Given the description of an element on the screen output the (x, y) to click on. 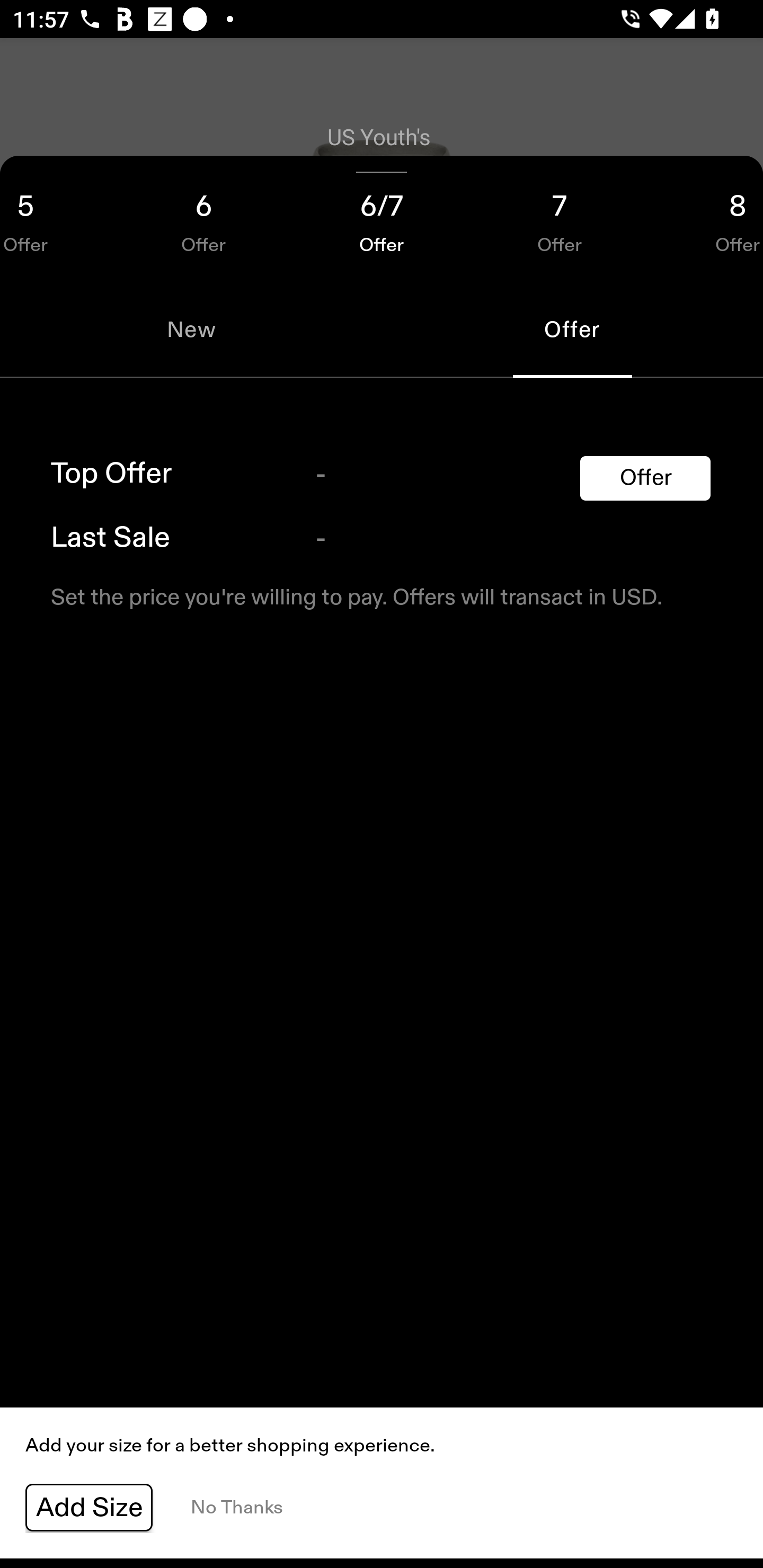
5 Offer (57, 218)
6 Offer (203, 218)
6/7 Offer (381, 218)
7 Offer (559, 218)
8 Offer (705, 218)
New (190, 329)
Offer (644, 477)
No Thanks (236, 1507)
Add Size (88, 1507)
